Given the description of an element on the screen output the (x, y) to click on. 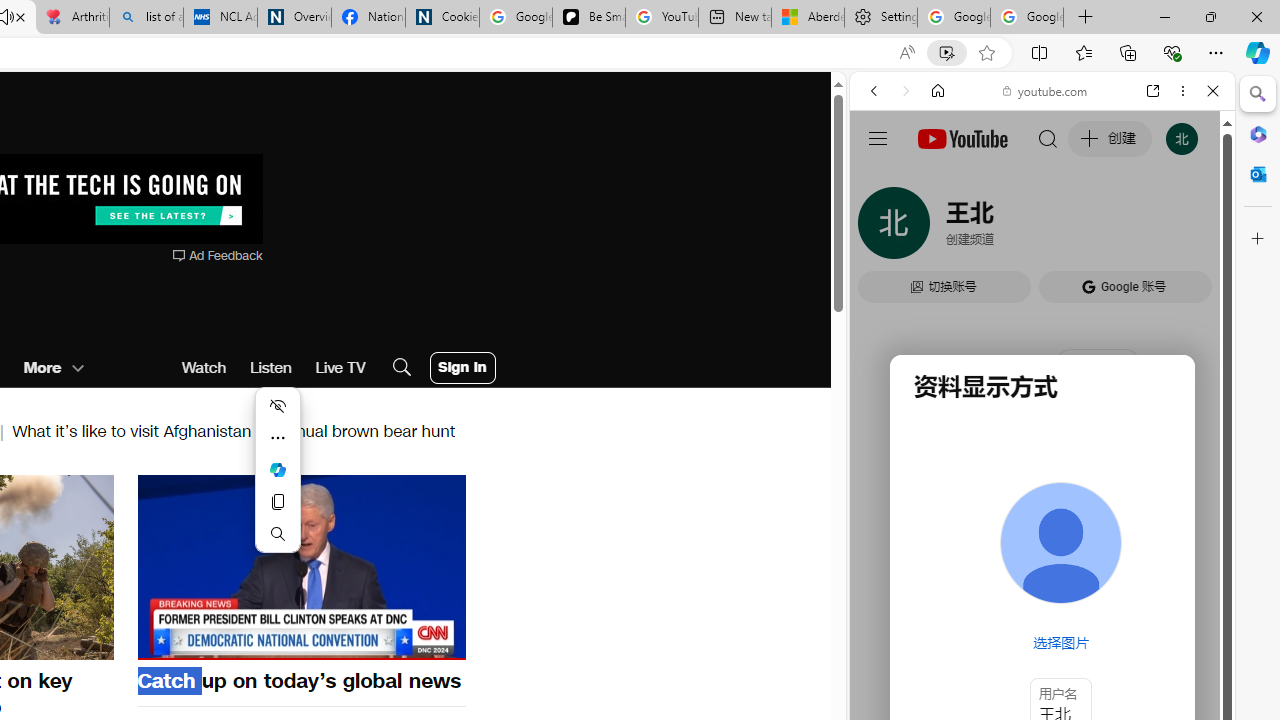
Mute (164, 642)
Backward 10 seconds (241, 566)
Listen (270, 367)
Captions Unavailable (350, 642)
